Given the description of an element on the screen output the (x, y) to click on. 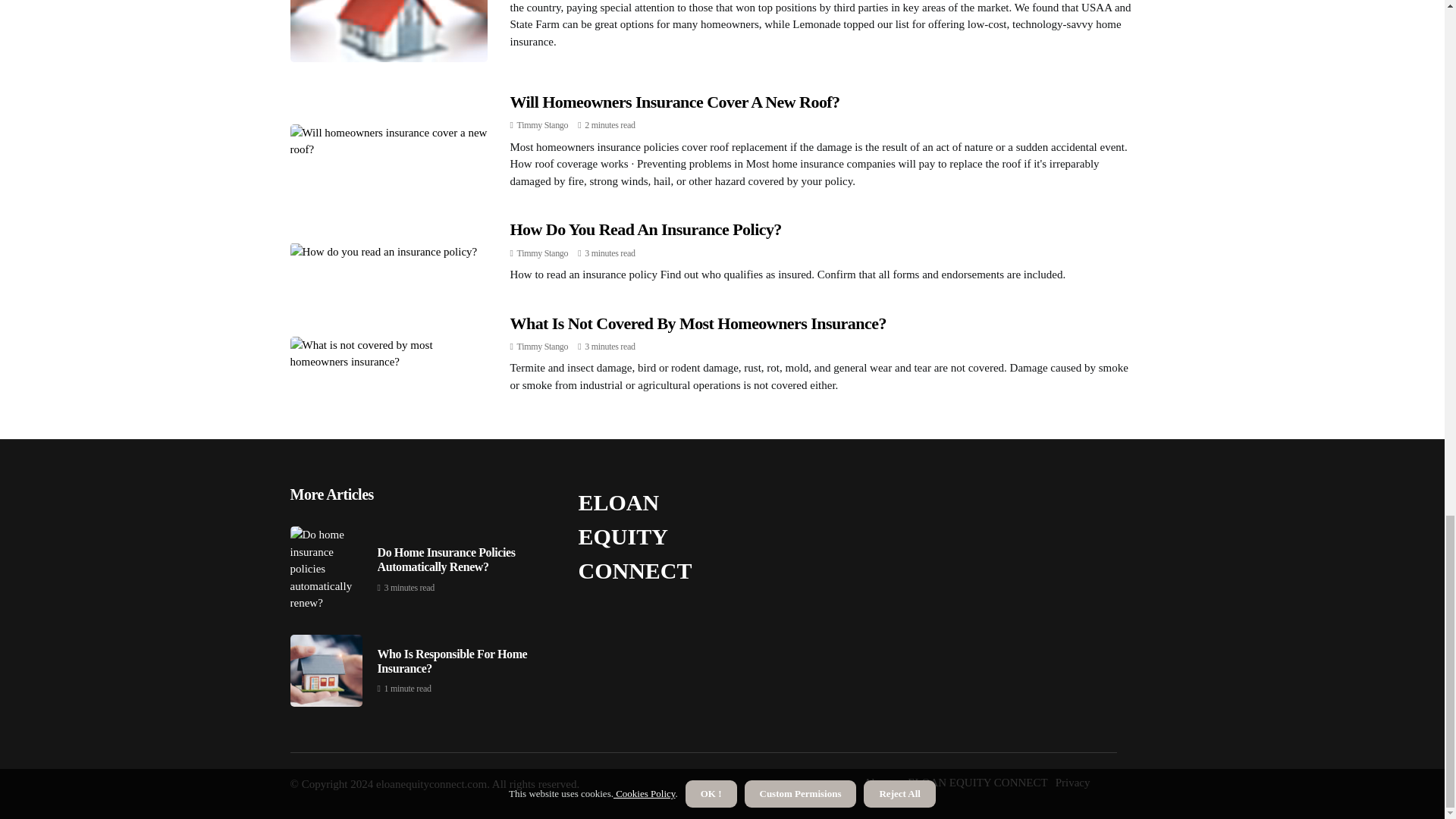
Will Homeowners Insurance Cover A New Roof? (674, 101)
How Do You Read An Insurance Policy? (644, 229)
Timmy Stango (542, 253)
What Is Not Covered By Most Homeowners Insurance? (697, 322)
Timmy Stango (542, 124)
Posts by Timmy Stango (542, 124)
Posts by Timmy Stango (542, 346)
Posts by Timmy Stango (542, 253)
Timmy Stango (542, 346)
